Given the description of an element on the screen output the (x, y) to click on. 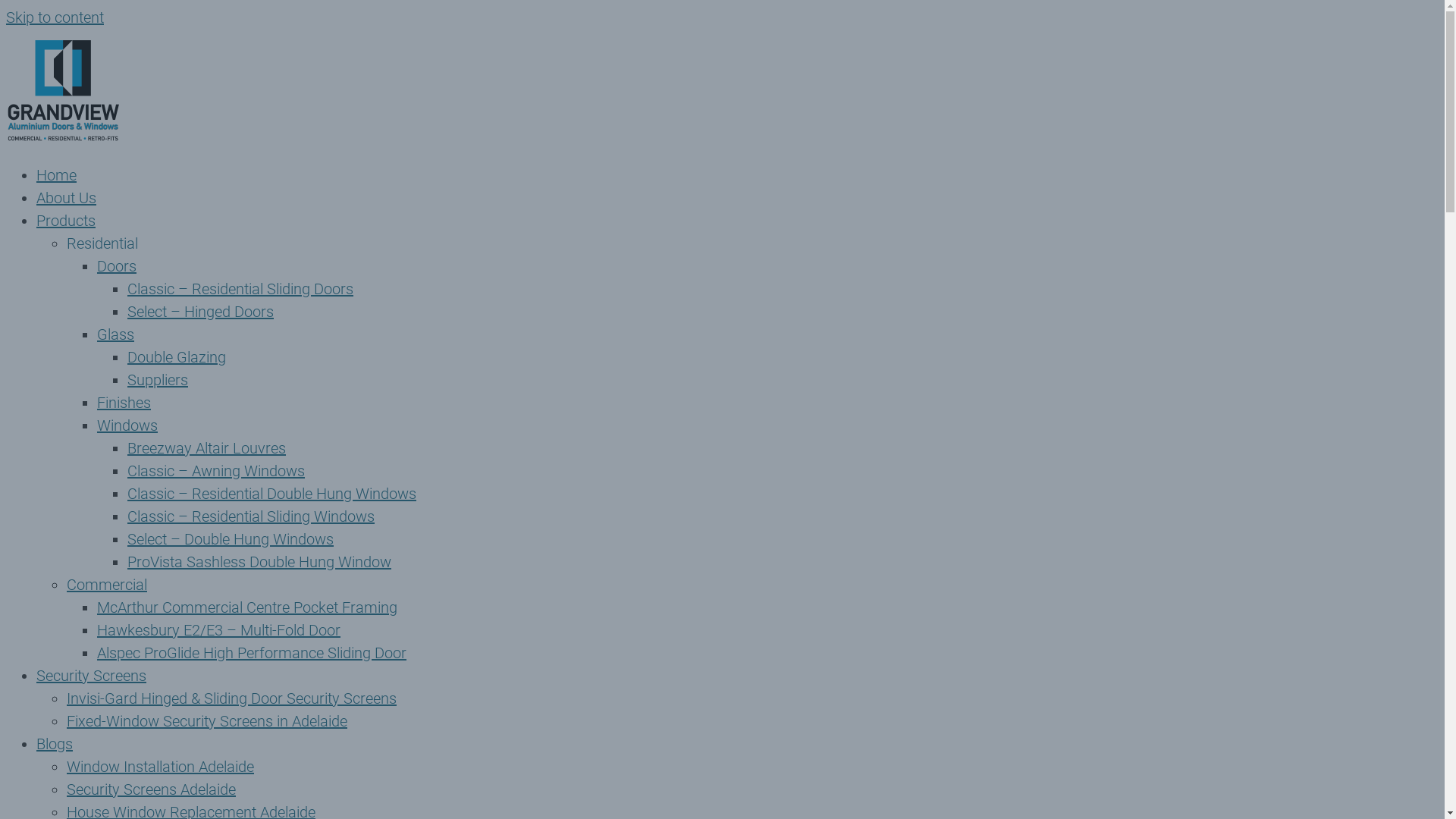
Security Screens Adelaide Element type: text (150, 789)
Double Glazing Element type: text (176, 357)
ProVista Sashless Double Hung Window Element type: text (259, 561)
Products Element type: text (65, 220)
McArthur Commercial Centre Pocket Framing Element type: text (247, 607)
Commercial Element type: text (106, 584)
Security Screens Element type: text (91, 675)
Suppliers Element type: text (157, 379)
About Us Element type: text (66, 197)
Finishes Element type: text (123, 402)
Invisi-Gard Hinged & Sliding Door Security Screens Element type: text (231, 698)
Window Installation Adelaide Element type: text (160, 766)
Fixed-Window Security Screens in Adelaide Element type: text (206, 721)
Alspec ProGlide High Performance Sliding Door Element type: text (251, 652)
Residential Element type: text (102, 243)
Doors Element type: text (116, 266)
Glass Element type: text (115, 334)
Home Element type: text (56, 175)
Skip to content Element type: text (54, 17)
Windows Element type: text (127, 425)
Blogs Element type: text (54, 743)
Breezway Altair Louvres Element type: text (206, 448)
